Given the description of an element on the screen output the (x, y) to click on. 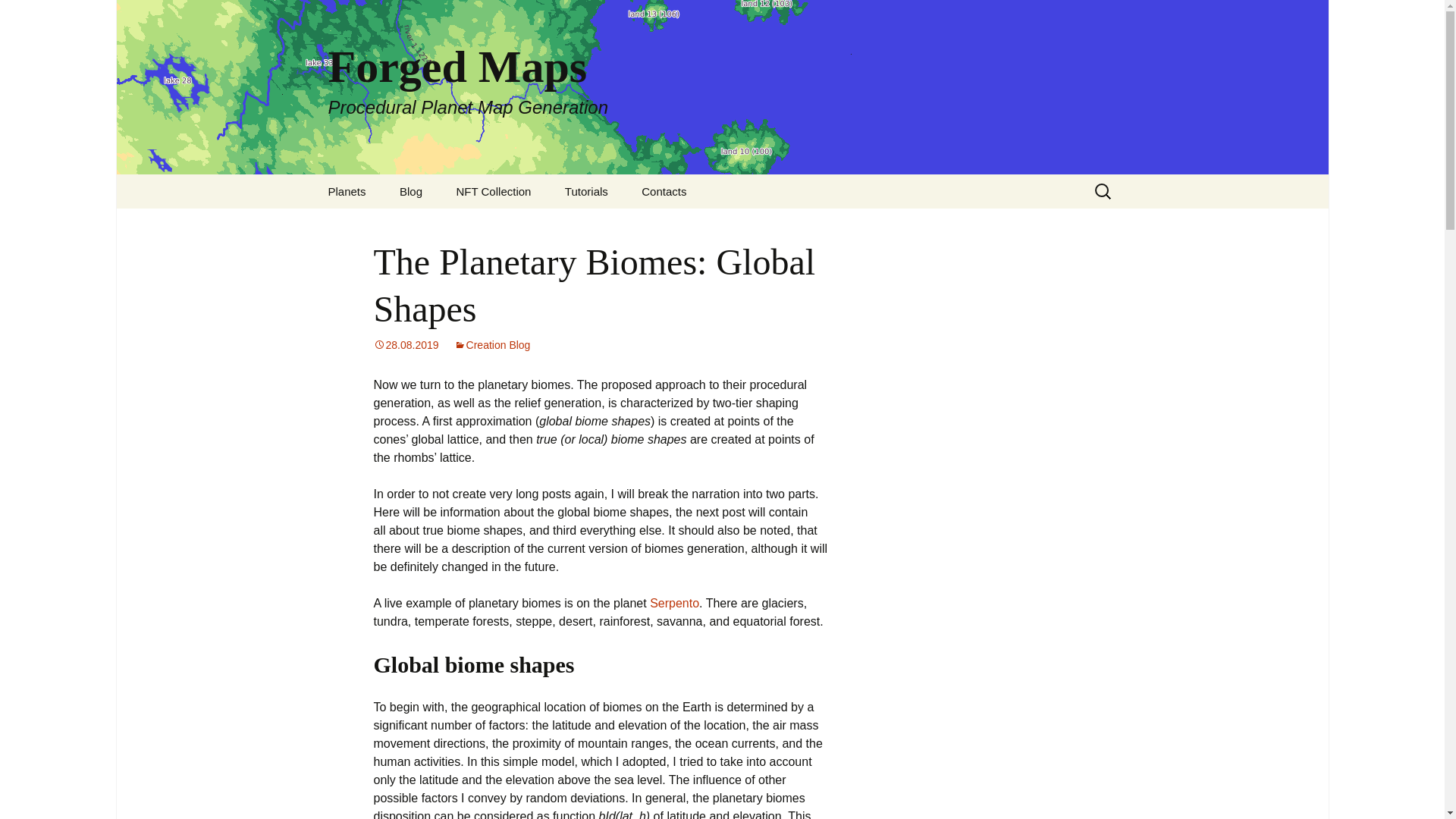
free planets discovering (346, 191)
Owl (388, 225)
Search (18, 15)
Tutorials (586, 191)
NFT Collection (493, 191)
Blog (492, 345)
Planets (411, 191)
Skip to content (346, 191)
Serpento (663, 191)
Permalink to The Planetary Biomes: Global Shapes (673, 603)
